Given the description of an element on the screen output the (x, y) to click on. 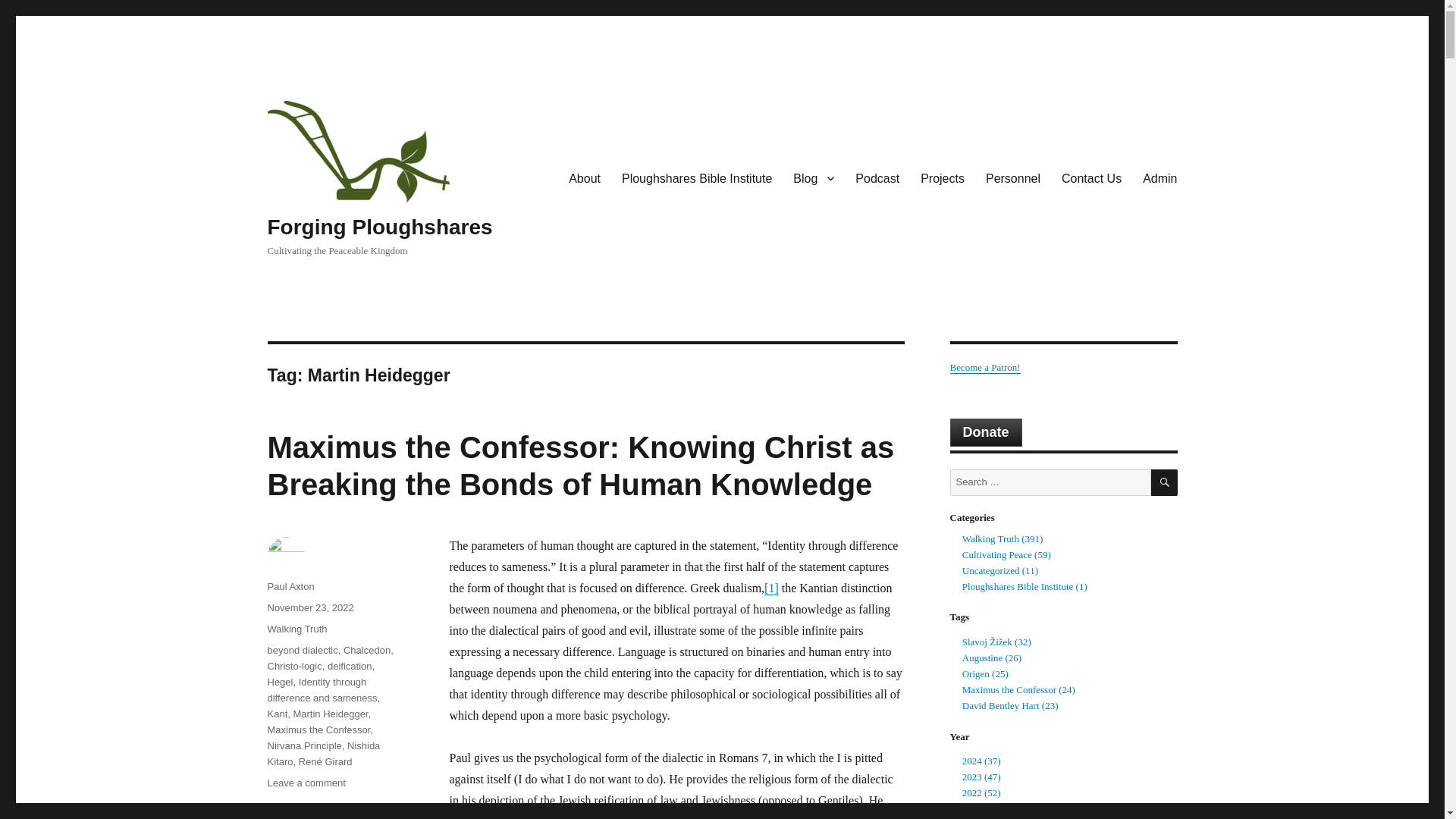
Contact Us (1091, 178)
Christo-logic (293, 665)
Kant (276, 713)
Martin Heidegger (330, 713)
Admin (1160, 178)
deification (349, 665)
Walking Truth (296, 628)
November 23, 2022 (309, 607)
Projects (942, 178)
Forging Ploughshares (379, 227)
